Given the description of an element on the screen output the (x, y) to click on. 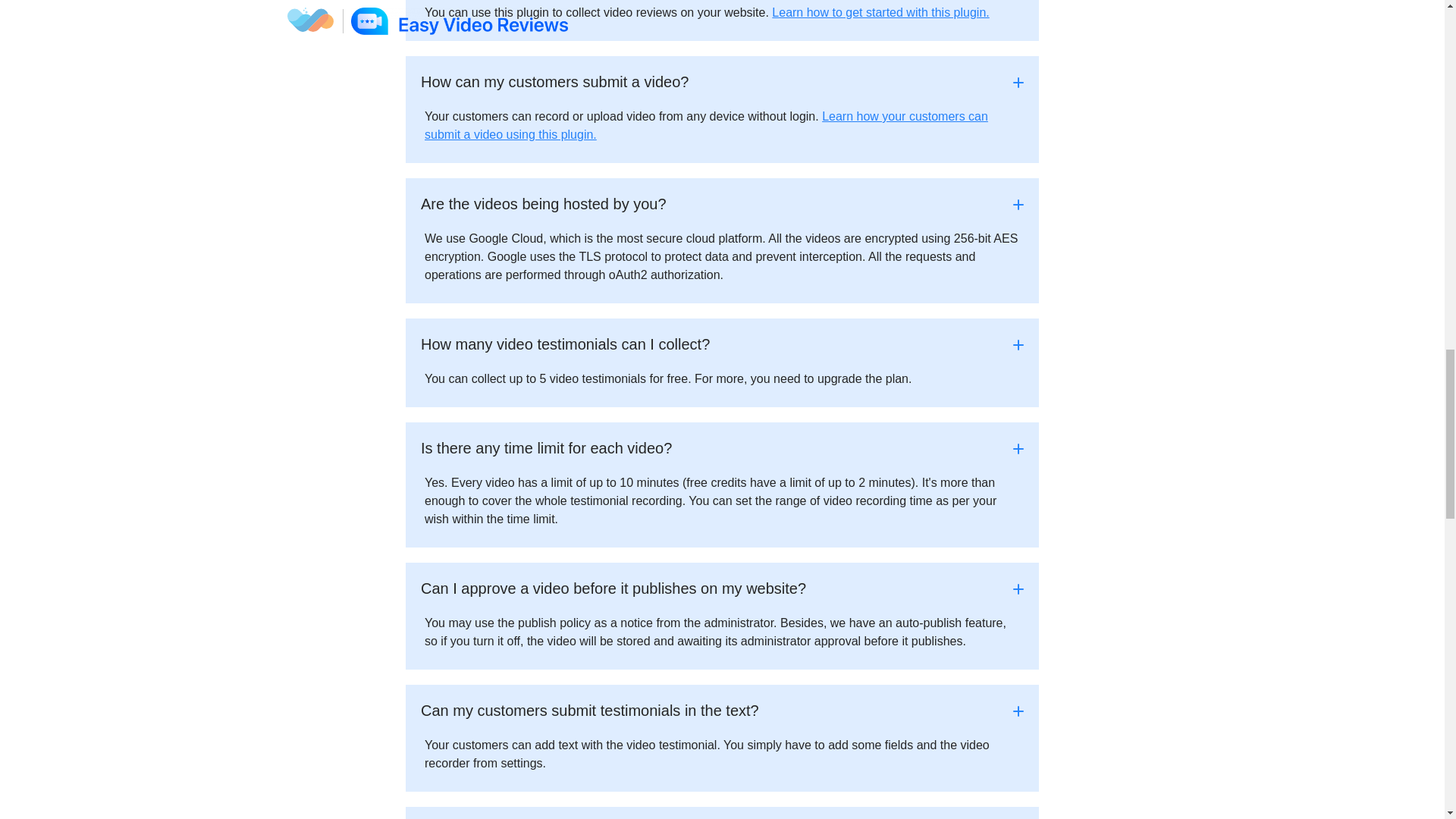
Learn how to get started with this plugin. (879, 11)
